Given the description of an element on the screen output the (x, y) to click on. 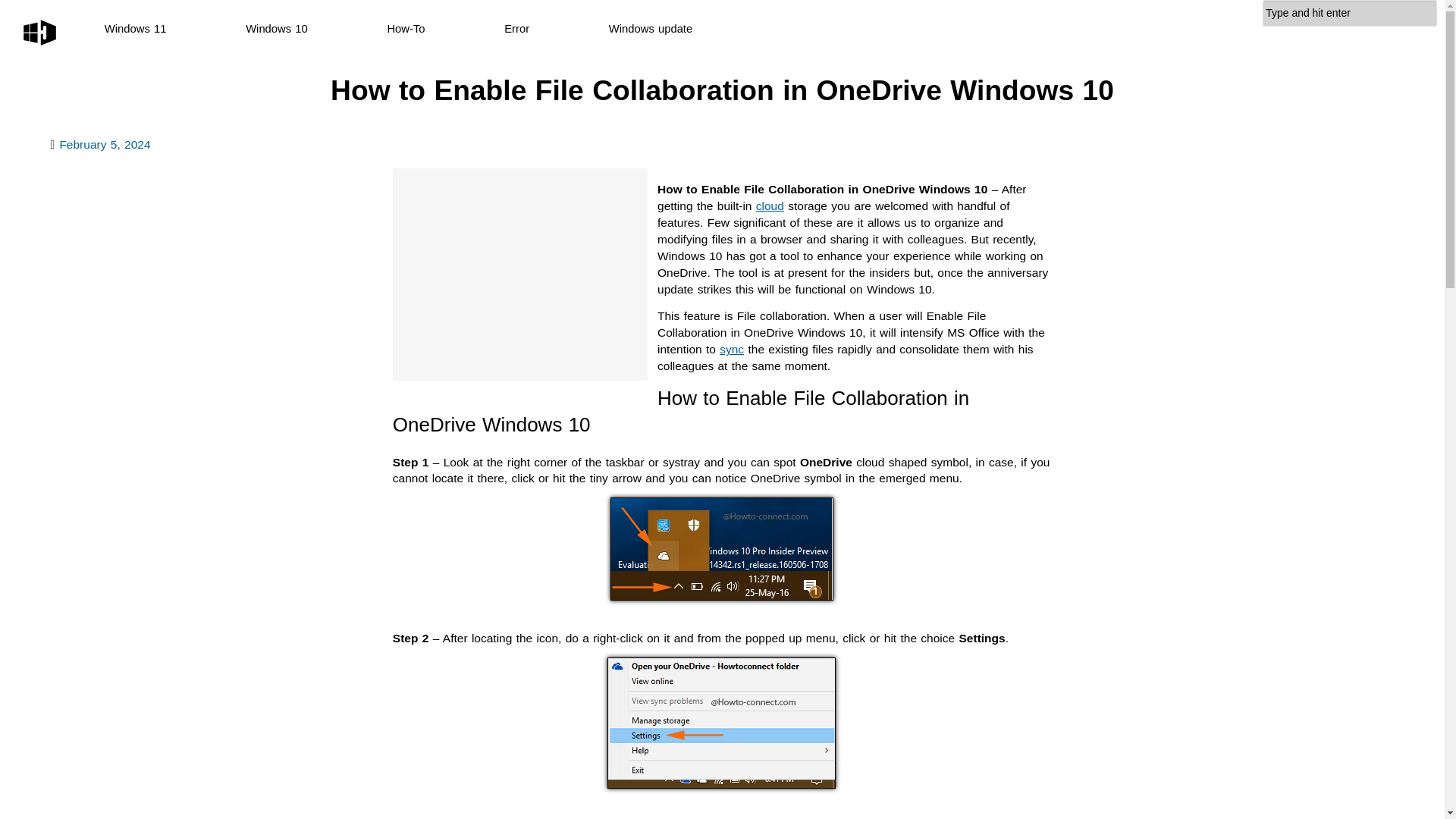
Error (516, 28)
Type and hit enter (1349, 13)
How-To (406, 28)
Windows 10 (276, 28)
Advertisement (520, 274)
Windows update (650, 28)
sync (731, 349)
1707144612 (104, 144)
cloud (769, 205)
Windows 11 (136, 28)
